Given the description of an element on the screen output the (x, y) to click on. 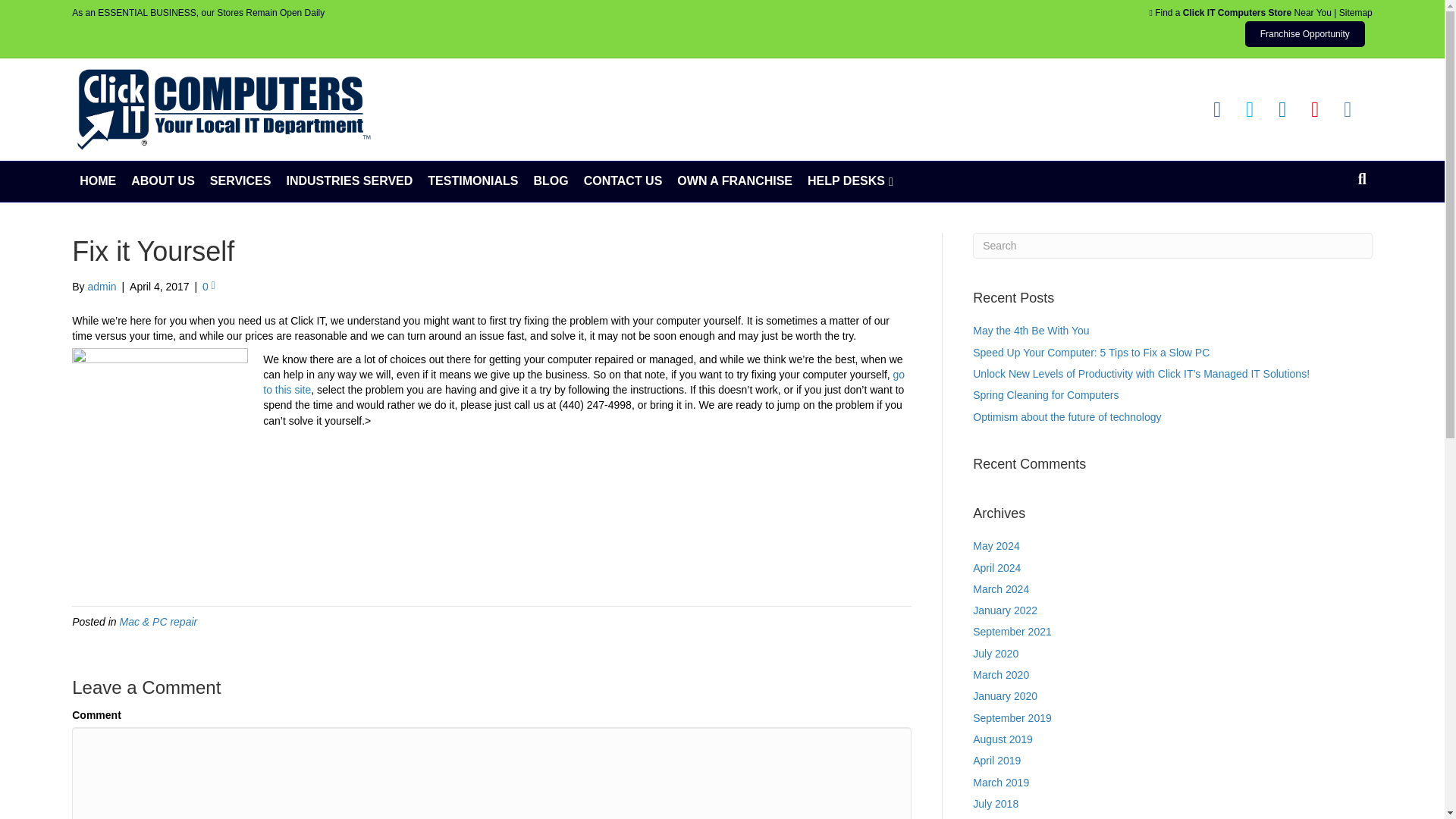
BLOG (550, 180)
SERVICES (240, 180)
HELP DESKS (850, 181)
ABOUT US (162, 180)
Click IT Computers Store (1236, 12)
CONTACT US (622, 180)
TESTIMONIALS (472, 180)
OWN A FRANCHISE (734, 180)
Facebook (1217, 109)
Instagram (1348, 109)
Twitter (1249, 109)
Franchise Opportunity (1304, 33)
INDUSTRIES SERVED (349, 180)
0 (208, 286)
admin (101, 286)
